Given the description of an element on the screen output the (x, y) to click on. 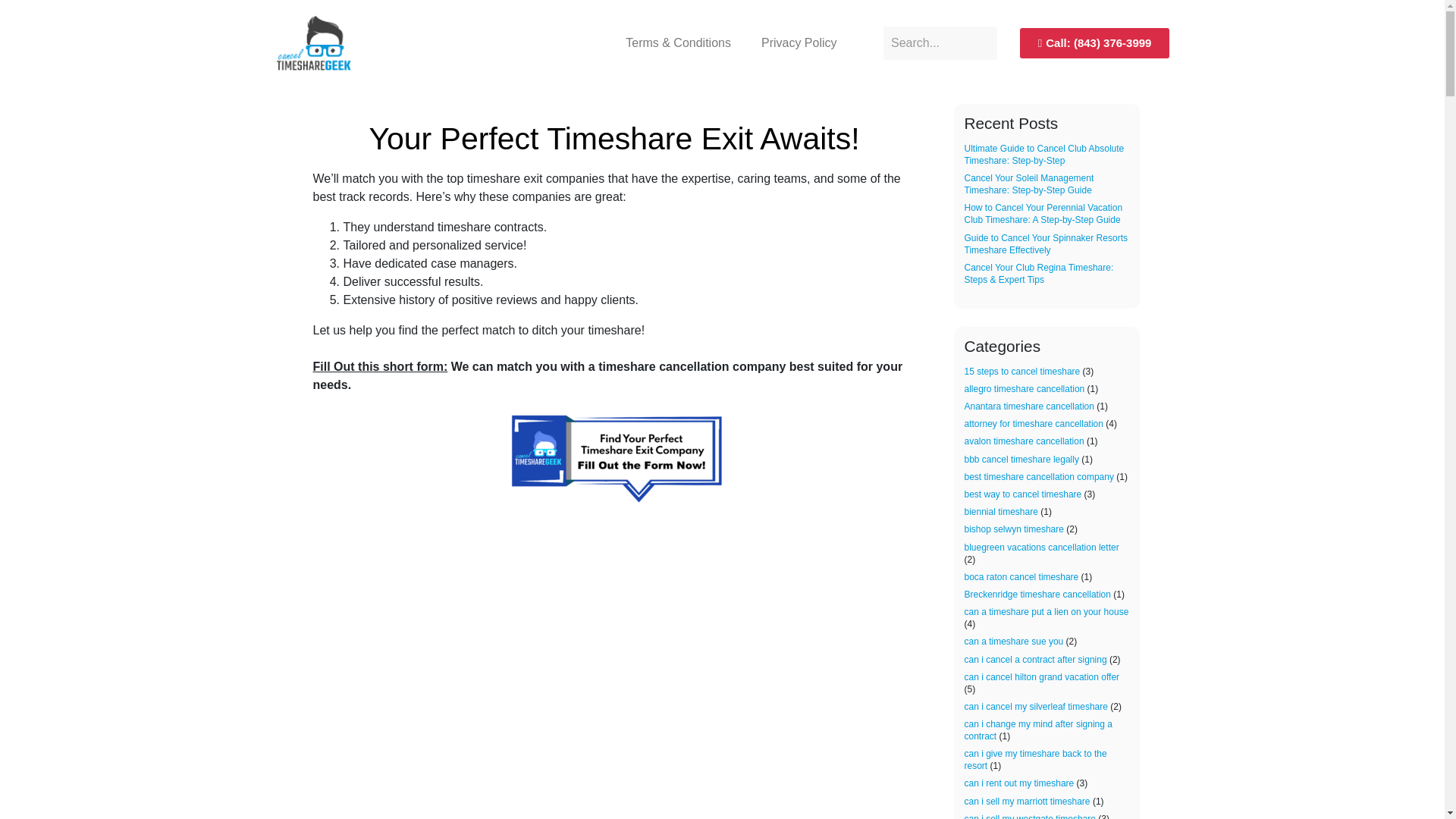
best way to cancel timeshare (1022, 493)
can a timeshare put a lien on your house (1046, 611)
can i cancel hilton grand vacation offer (1041, 676)
Guide to Cancel Your Spinnaker Resorts Timeshare Effectively (1044, 243)
Breckenridge timeshare cancellation (1036, 593)
Anantara timeshare cancellation (1028, 406)
attorney for timeshare cancellation (1033, 423)
boca raton cancel timeshare (1020, 576)
bishop selwyn timeshare (1013, 529)
can i cancel a contract after signing (1034, 659)
can i sell my westgate timeshare (1029, 816)
bluegreen vacations cancellation letter (1041, 547)
allegro timeshare cancellation (1023, 388)
15 steps to cancel timeshare (1021, 371)
